Given the description of an element on the screen output the (x, y) to click on. 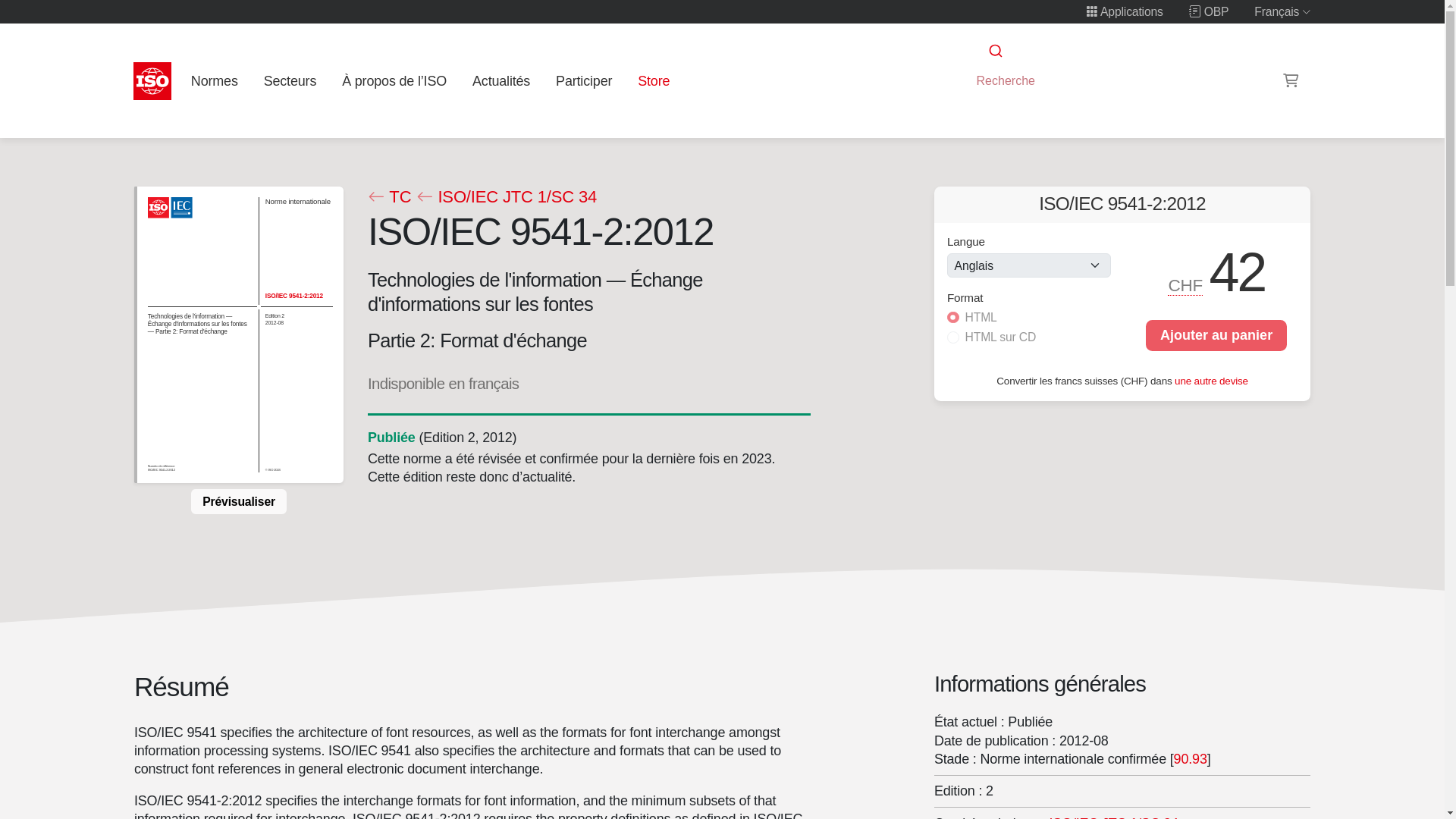
90.93 (1190, 758)
TC (388, 197)
Normes (214, 80)
Description des documents et langages de traitement (1113, 816)
 OBP (1208, 11)
Plateforme de consultation en ligne (1208, 11)
 Applications (1124, 11)
Submit (993, 51)
Organisation internationale de normalisation (152, 80)
une autre devise (1210, 379)
Ajouter au panier (1217, 335)
Participer (584, 80)
Store (654, 80)
Portail des applications de l'ISO (1124, 11)
Secteurs (290, 80)
